Given the description of an element on the screen output the (x, y) to click on. 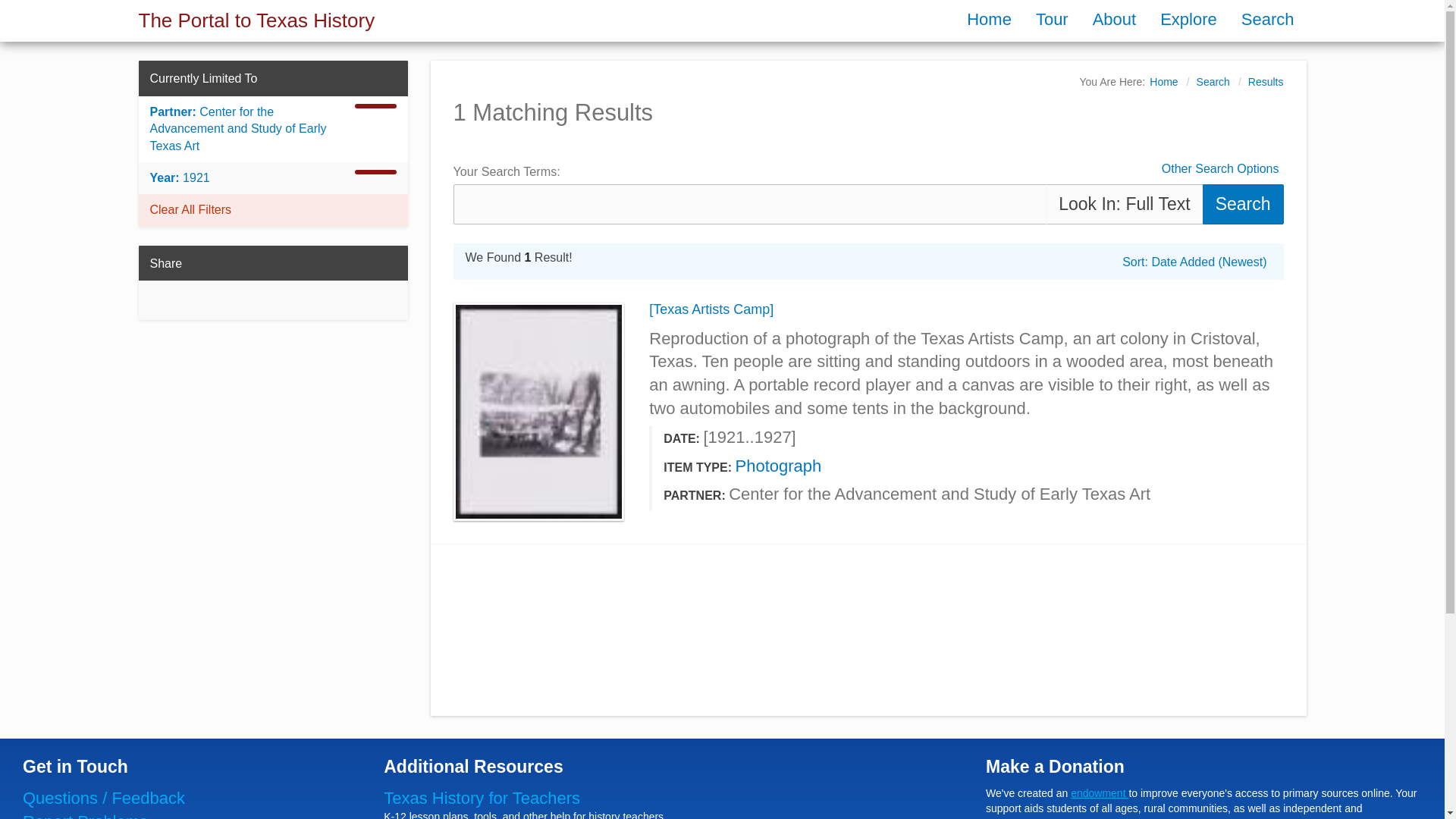
Results (1265, 81)
The Portal to Texas History (256, 20)
Explore (1188, 18)
Home (989, 18)
Search (1213, 81)
Home (1163, 81)
Search (1267, 18)
About (1114, 18)
Tour (1051, 18)
